Given the description of an element on the screen output the (x, y) to click on. 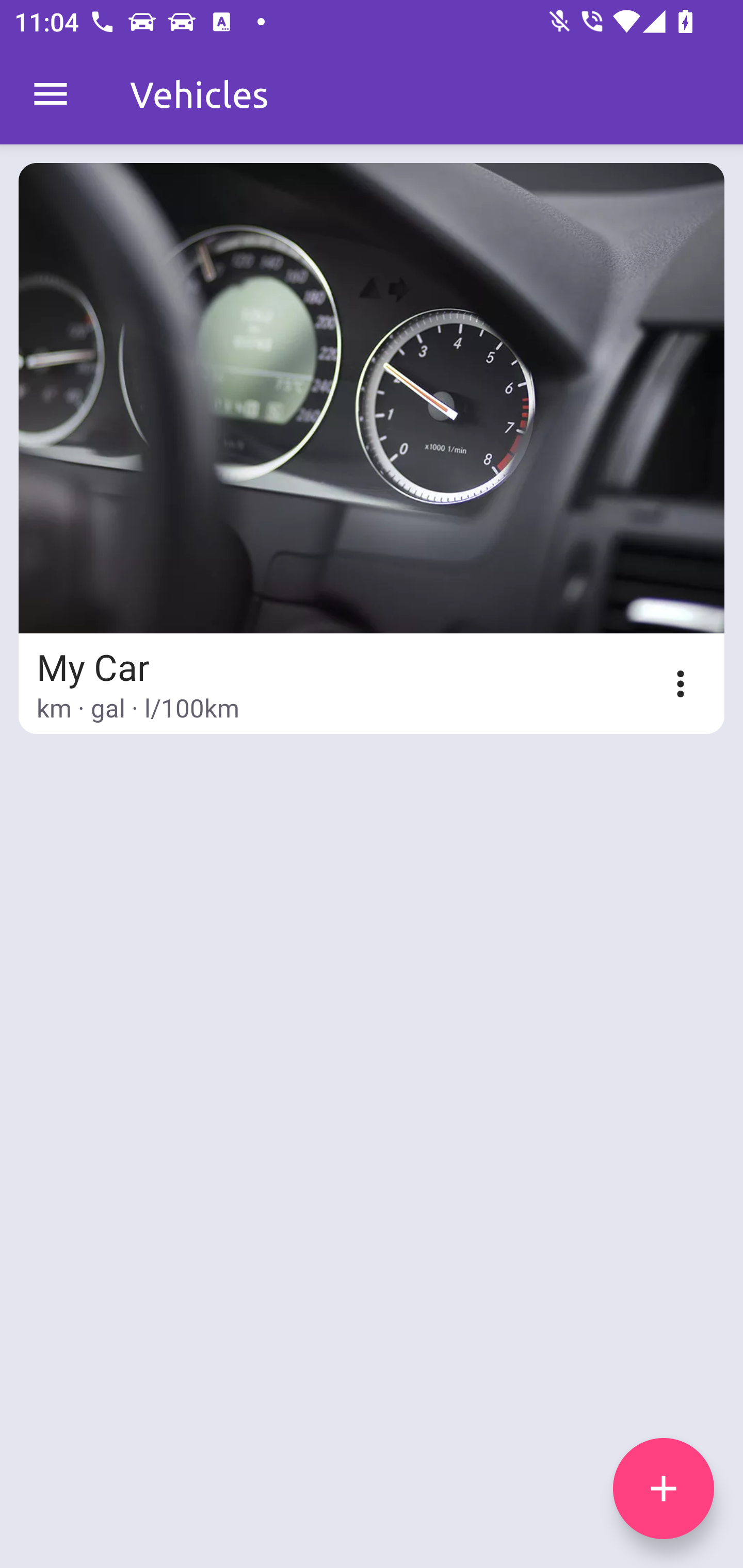
MenuDrawer (50, 93)
My Car km · gal · l/100km (371, 448)
add icon (663, 1488)
